Given the description of an element on the screen output the (x, y) to click on. 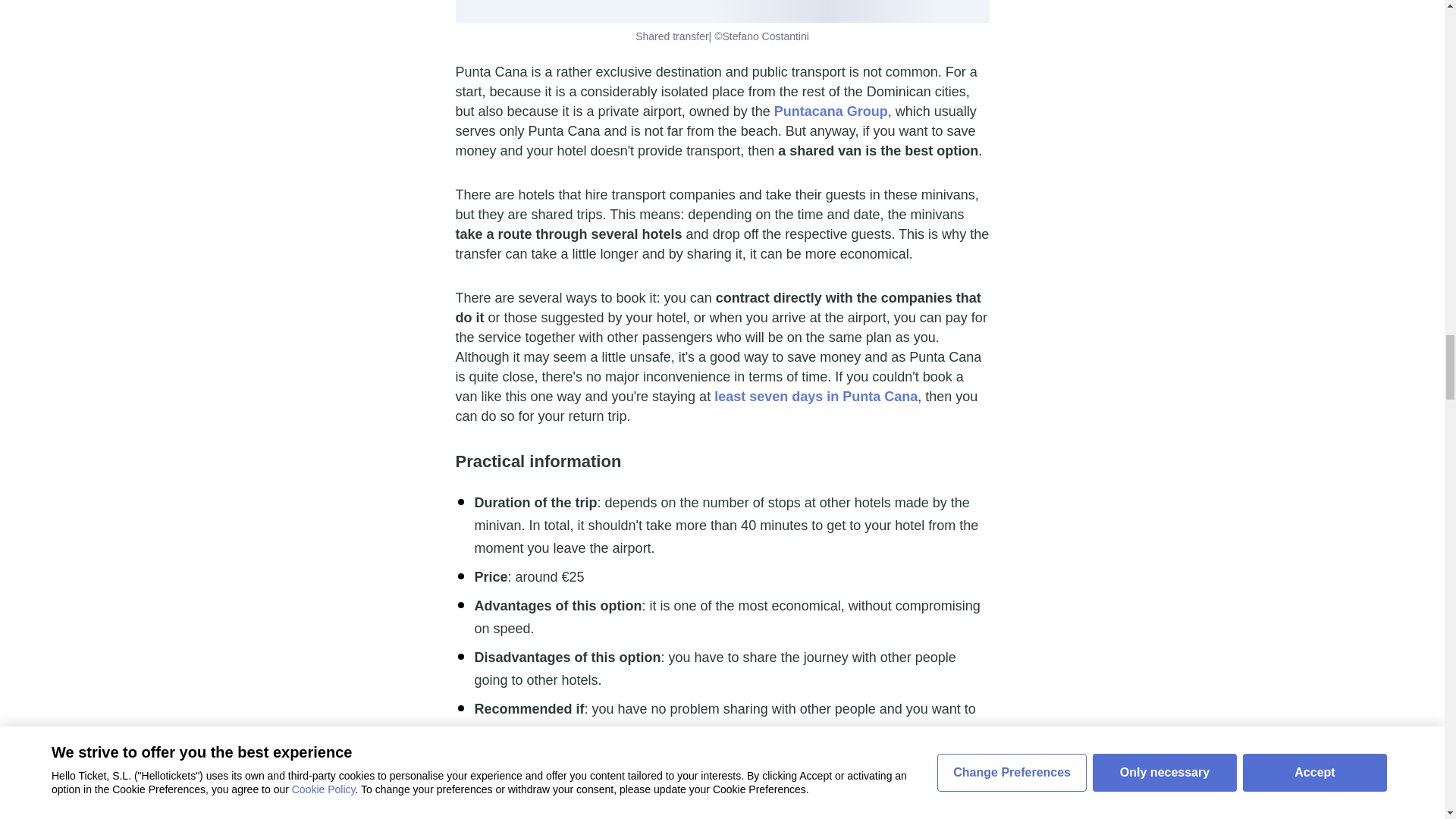
least seven days in Punta Cana (815, 396)
Puntacana Group (831, 111)
